Given the description of an element on the screen output the (x, y) to click on. 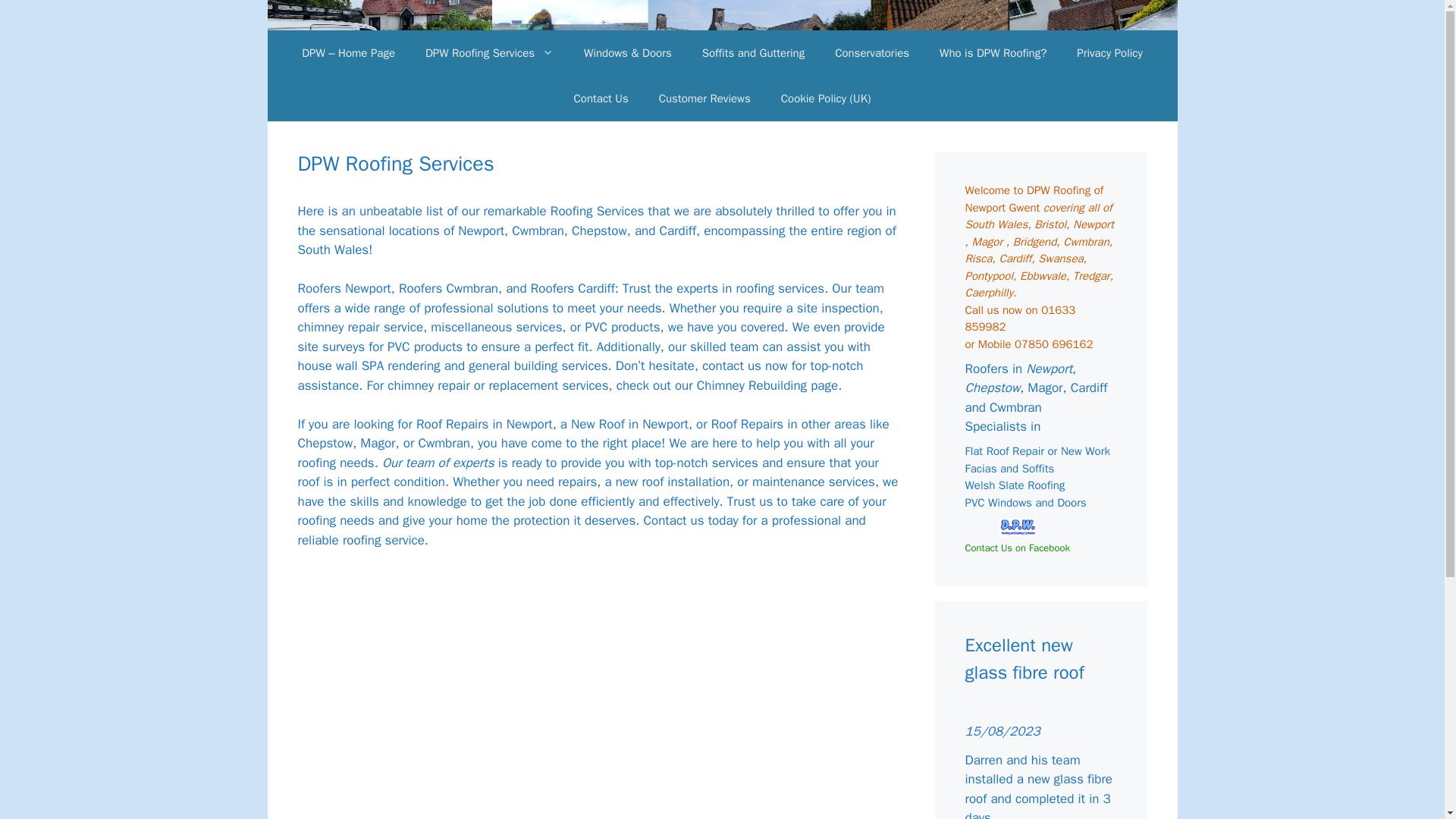
Soffits and Guttering (753, 53)
DPW Roofing Services (489, 53)
Contact Us on Facebook (1015, 547)
Conservatories (871, 53)
Contact Us (601, 98)
Who is DPW Roofing? (992, 53)
Chimney Rebuilding (751, 385)
Customer Reviews (704, 98)
Chimney Rebuilding (751, 385)
Privacy Policy (1109, 53)
